Given the description of an element on the screen output the (x, y) to click on. 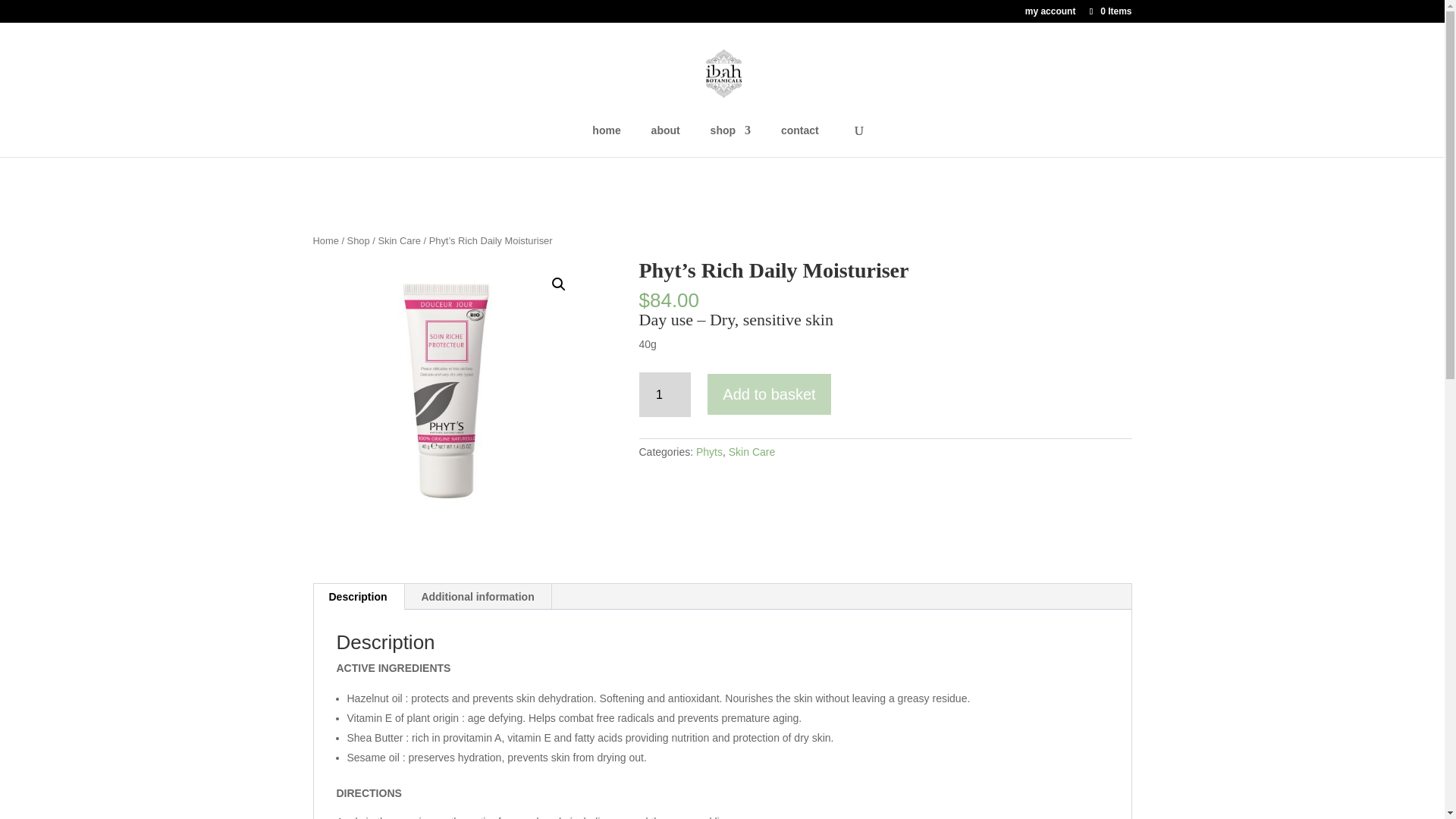
Shop (358, 240)
Home (325, 240)
0 Items (1108, 10)
my account (1050, 14)
shop (730, 141)
Skin Care (398, 240)
Phyts Rich Daily Moisturiser (447, 394)
contact (799, 141)
1 (664, 394)
about (664, 141)
